Given the description of an element on the screen output the (x, y) to click on. 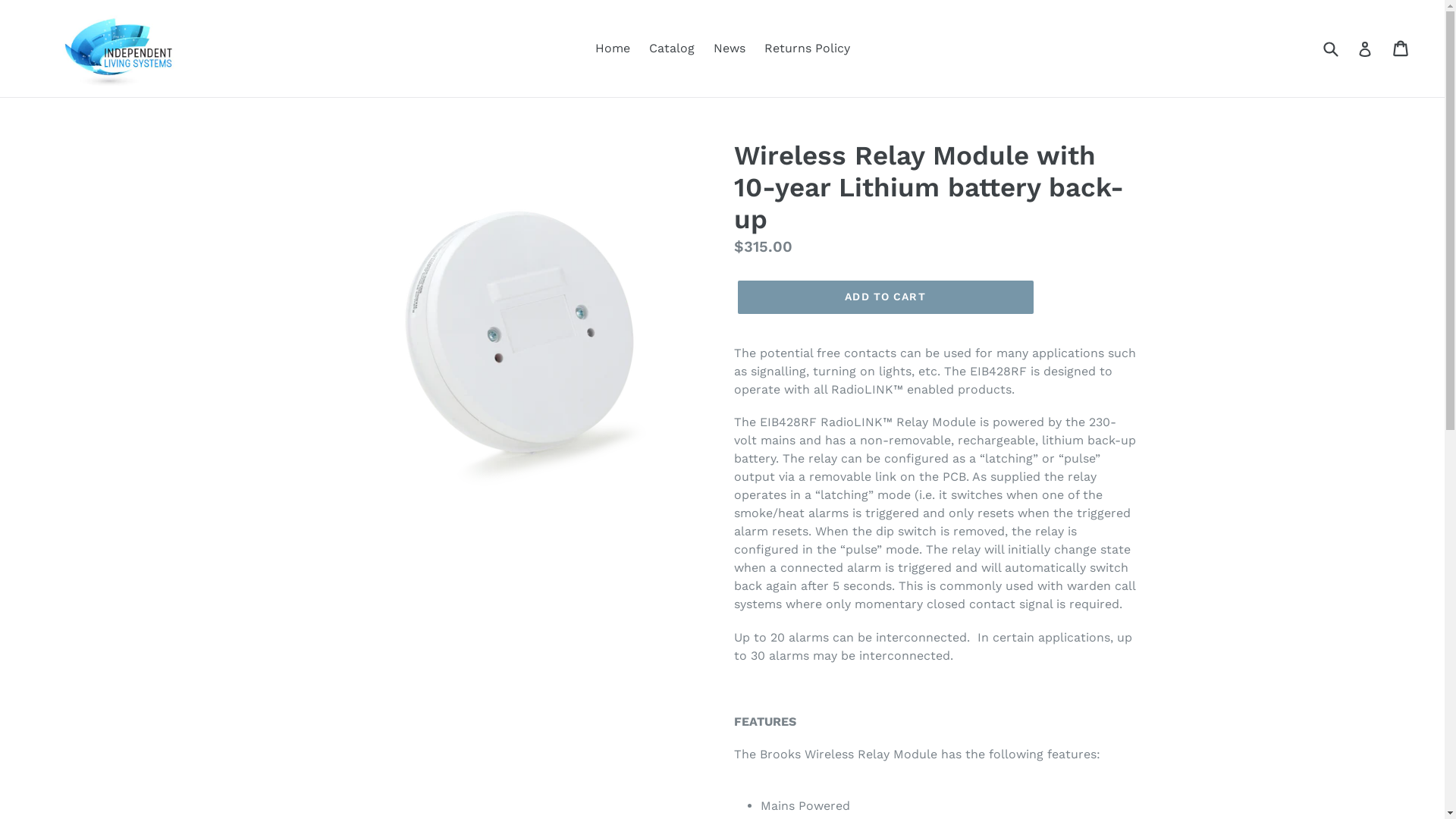
Catalog Element type: text (671, 48)
ADD TO CART Element type: text (884, 296)
Submit Element type: text (1329, 47)
Cart Element type: text (1401, 48)
Home Element type: text (611, 48)
News Element type: text (728, 48)
Log in Element type: text (1364, 48)
Returns Policy Element type: text (806, 48)
